Given the description of an element on the screen output the (x, y) to click on. 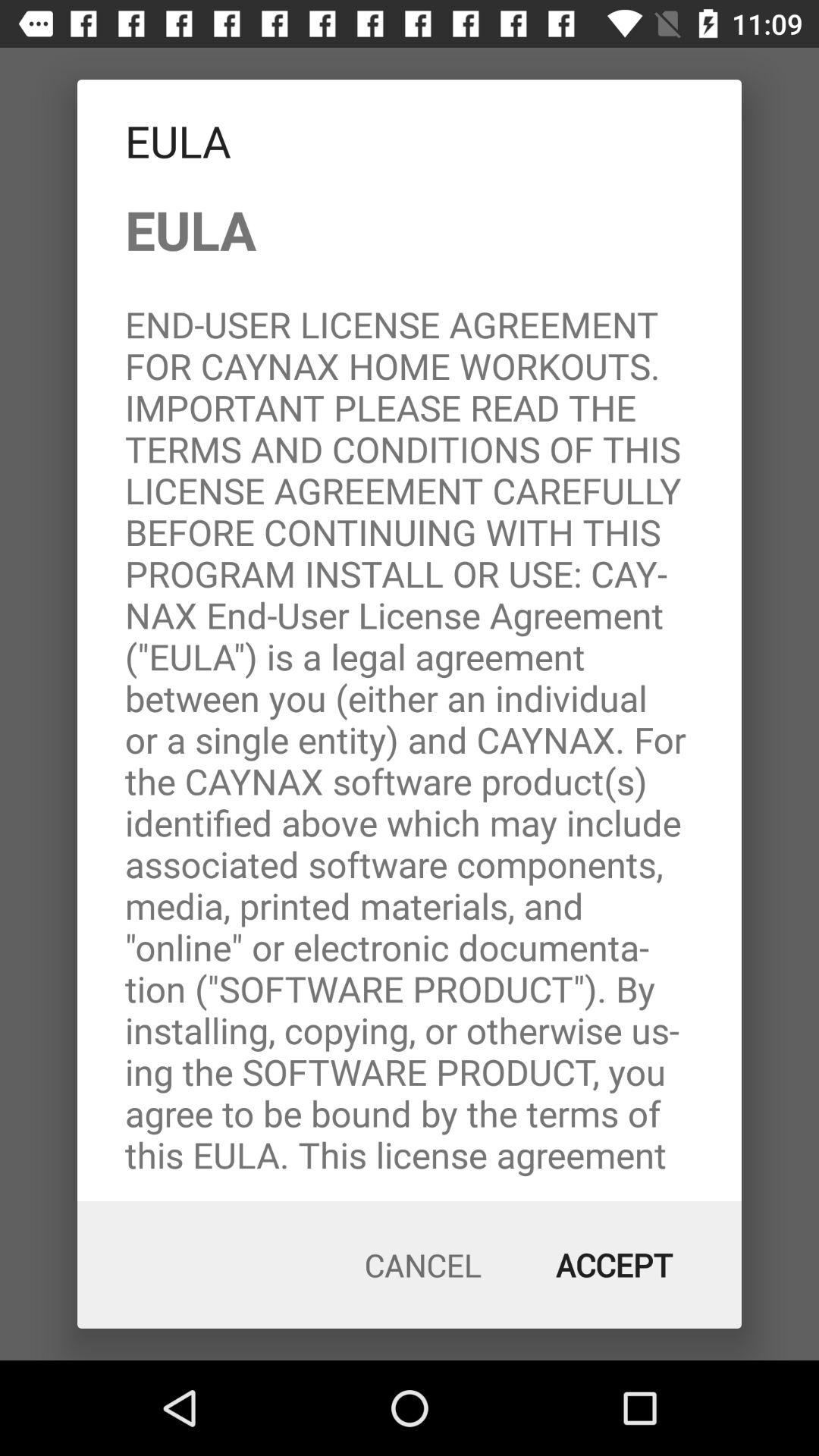
launch icon to the right of cancel item (613, 1264)
